Given the description of an element on the screen output the (x, y) to click on. 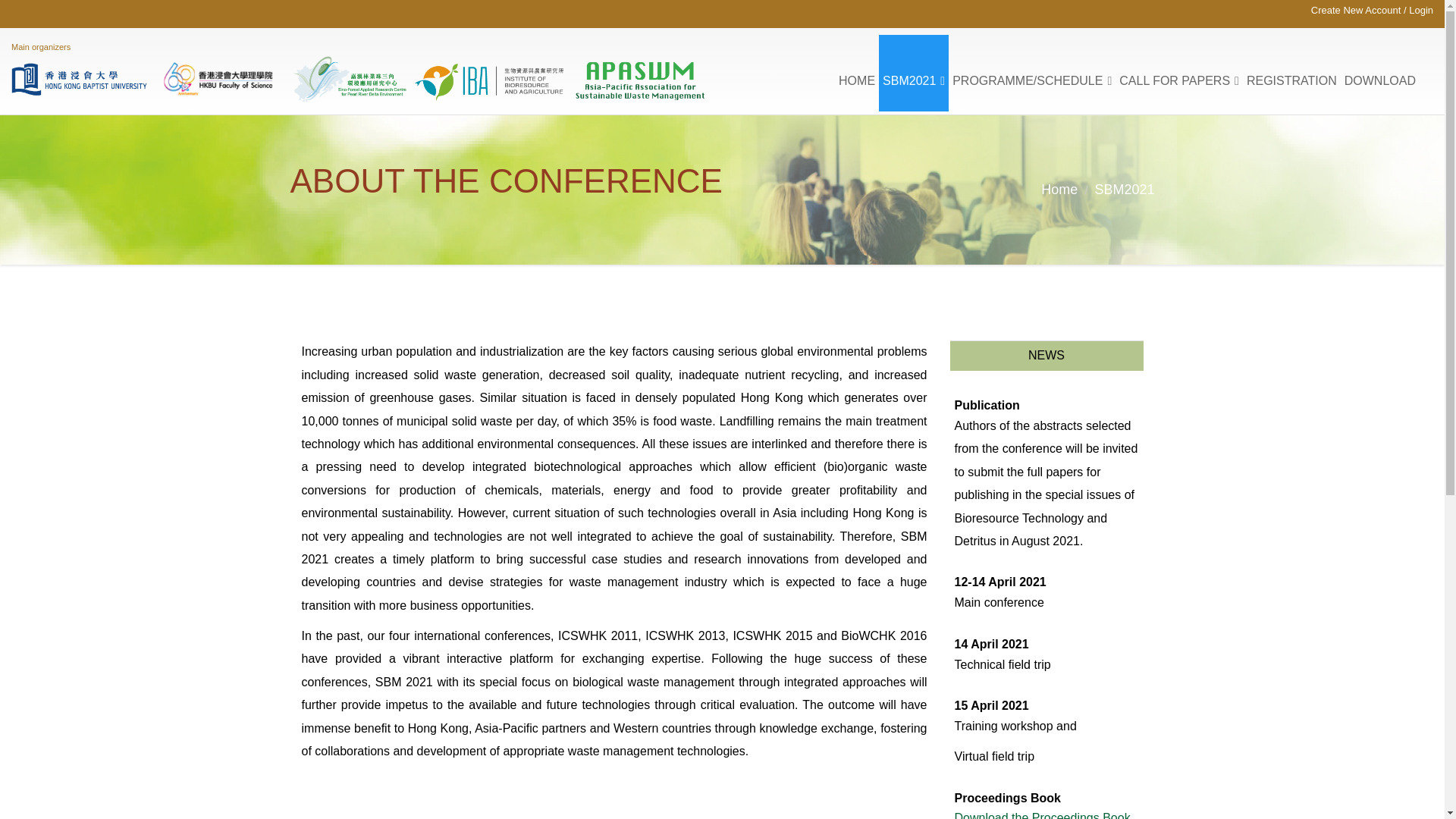
Create New Account (1355, 9)
Home (1059, 189)
Login (1420, 9)
CALL FOR PAPERS (1179, 73)
SBM2021 (1124, 189)
SBM2021 (914, 73)
roceedings Book (1084, 815)
DOWNLOAD (1379, 73)
Download the P (996, 815)
REGISTRATION (1291, 73)
